Given the description of an element on the screen output the (x, y) to click on. 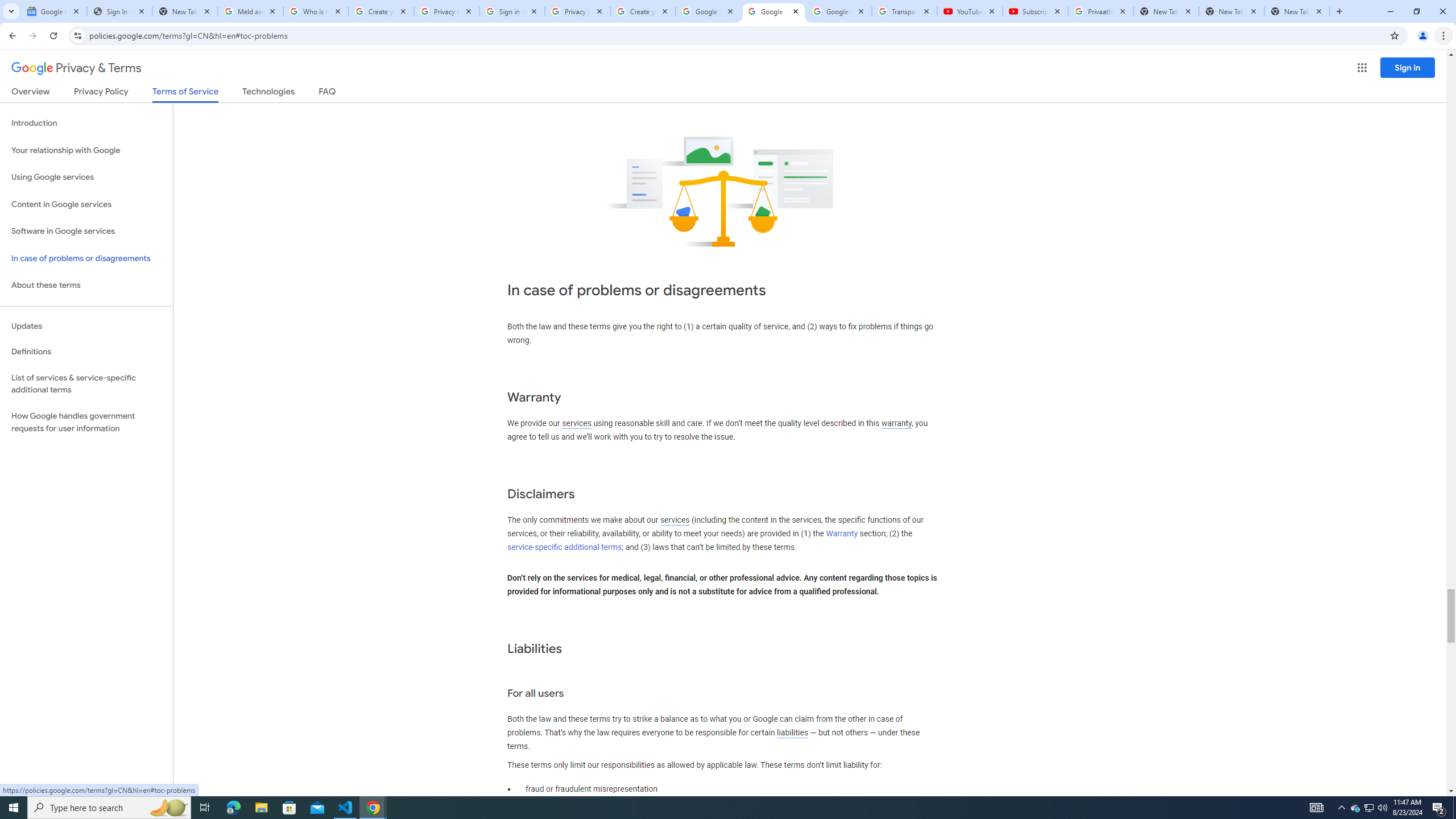
Terms of Service (184, 94)
liabilities (792, 732)
Google News (53, 11)
Overview (30, 93)
How Google handles government requests for user information (86, 422)
Using Google services (86, 176)
Sign In - USA TODAY (119, 11)
Who is my administrator? - Google Account Help (315, 11)
